Given the description of an element on the screen output the (x, y) to click on. 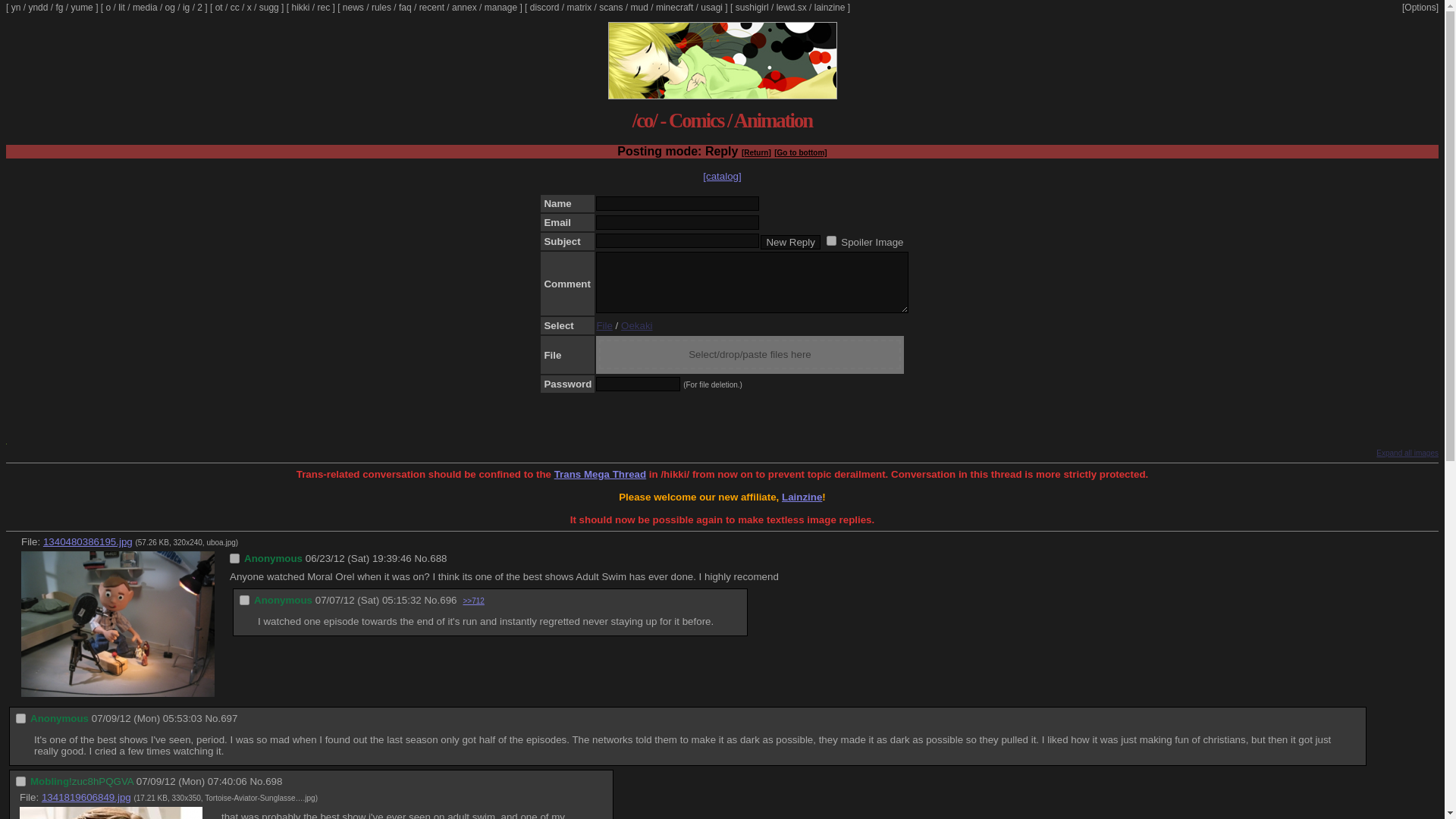
yume (81, 7)
faq (405, 7)
lainzine (829, 7)
Other Games (169, 7)
news (353, 7)
Tortoise-Aviator-Sunglasses.jpg (259, 797)
mud (638, 7)
scans (610, 7)
on (831, 240)
sugg (269, 7)
